Given the description of an element on the screen output the (x, y) to click on. 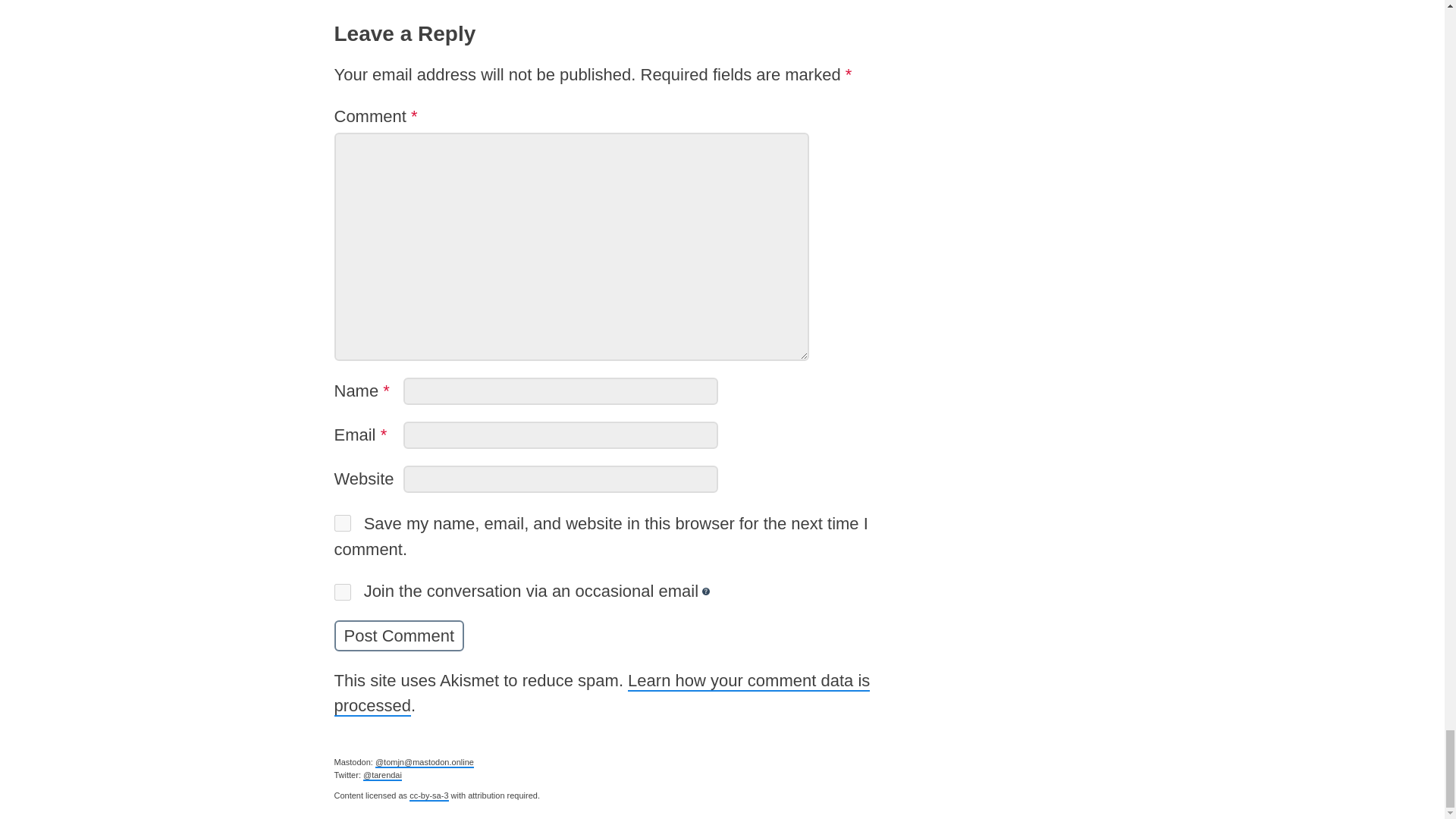
Post Comment (398, 635)
1 (341, 591)
yes (341, 523)
